Given the description of an element on the screen output the (x, y) to click on. 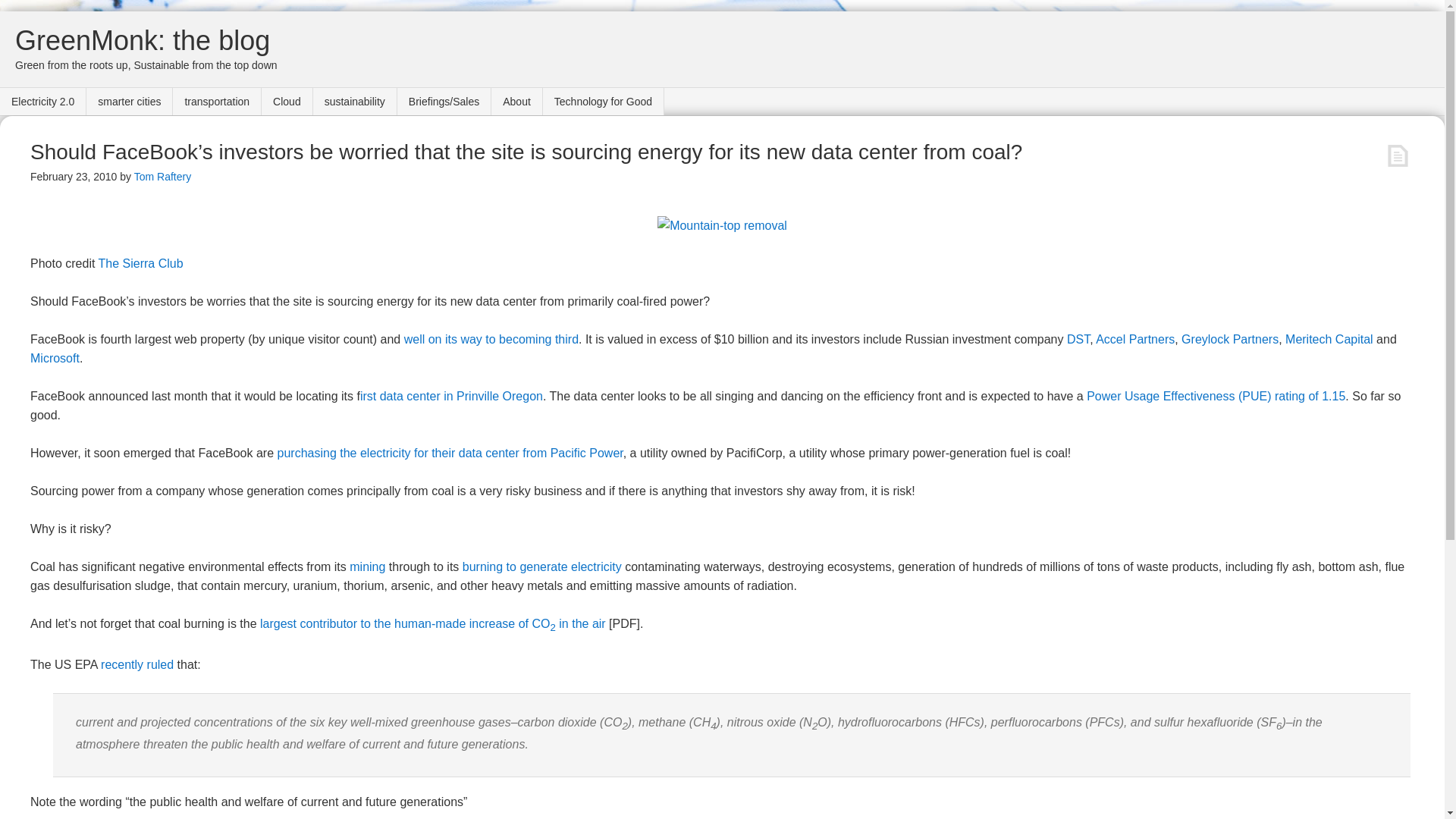
Mountain-top removal (722, 225)
Technology for Good (603, 101)
About (517, 101)
Tom Raftery (161, 176)
Accel Partners (1135, 338)
Cloud (287, 101)
smarter cities (129, 101)
Electricity 2.0 (42, 101)
sustainability (355, 101)
DST (1078, 338)
